Given the description of an element on the screen output the (x, y) to click on. 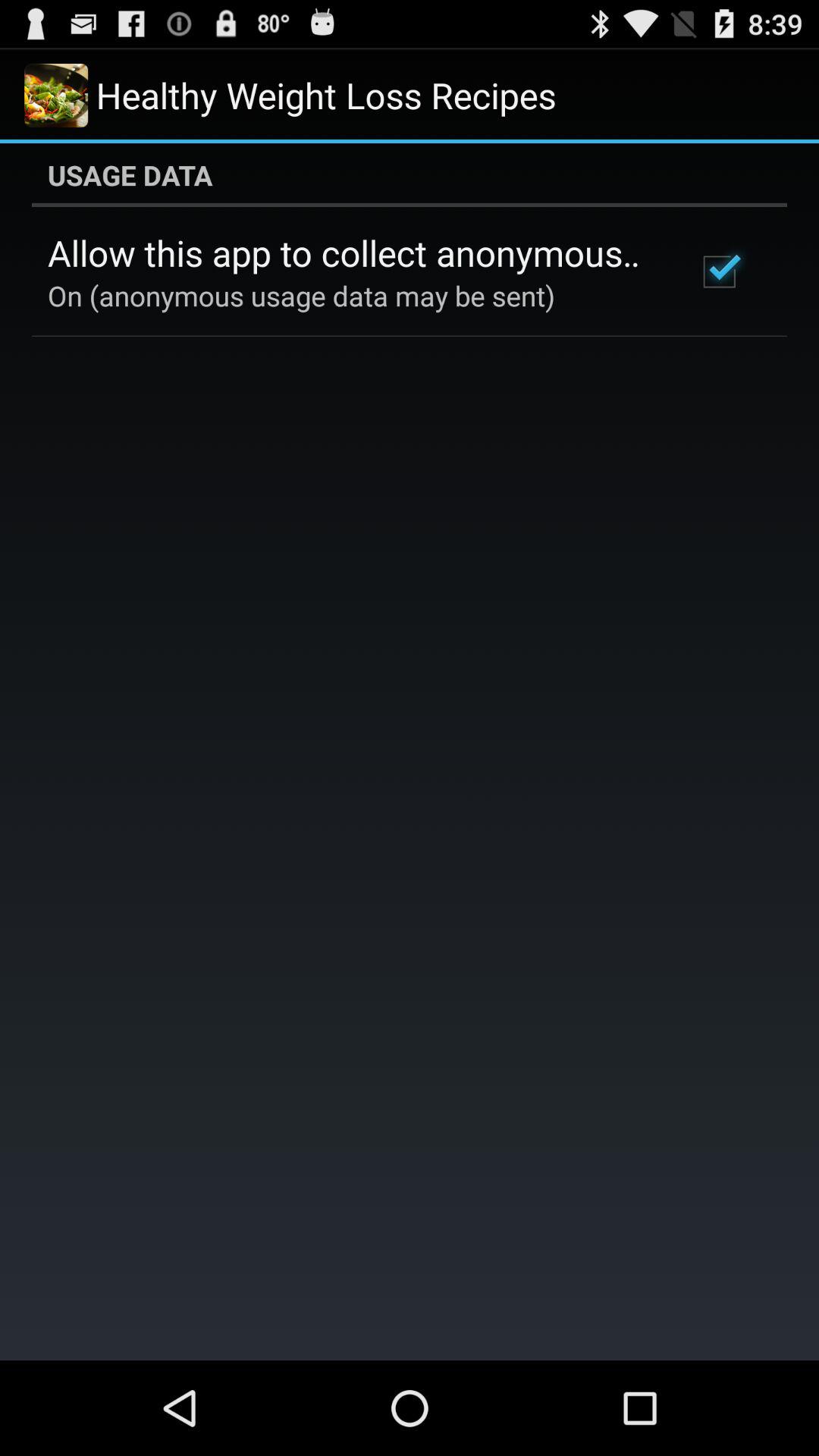
turn on item below usage data item (351, 252)
